Given the description of an element on the screen output the (x, y) to click on. 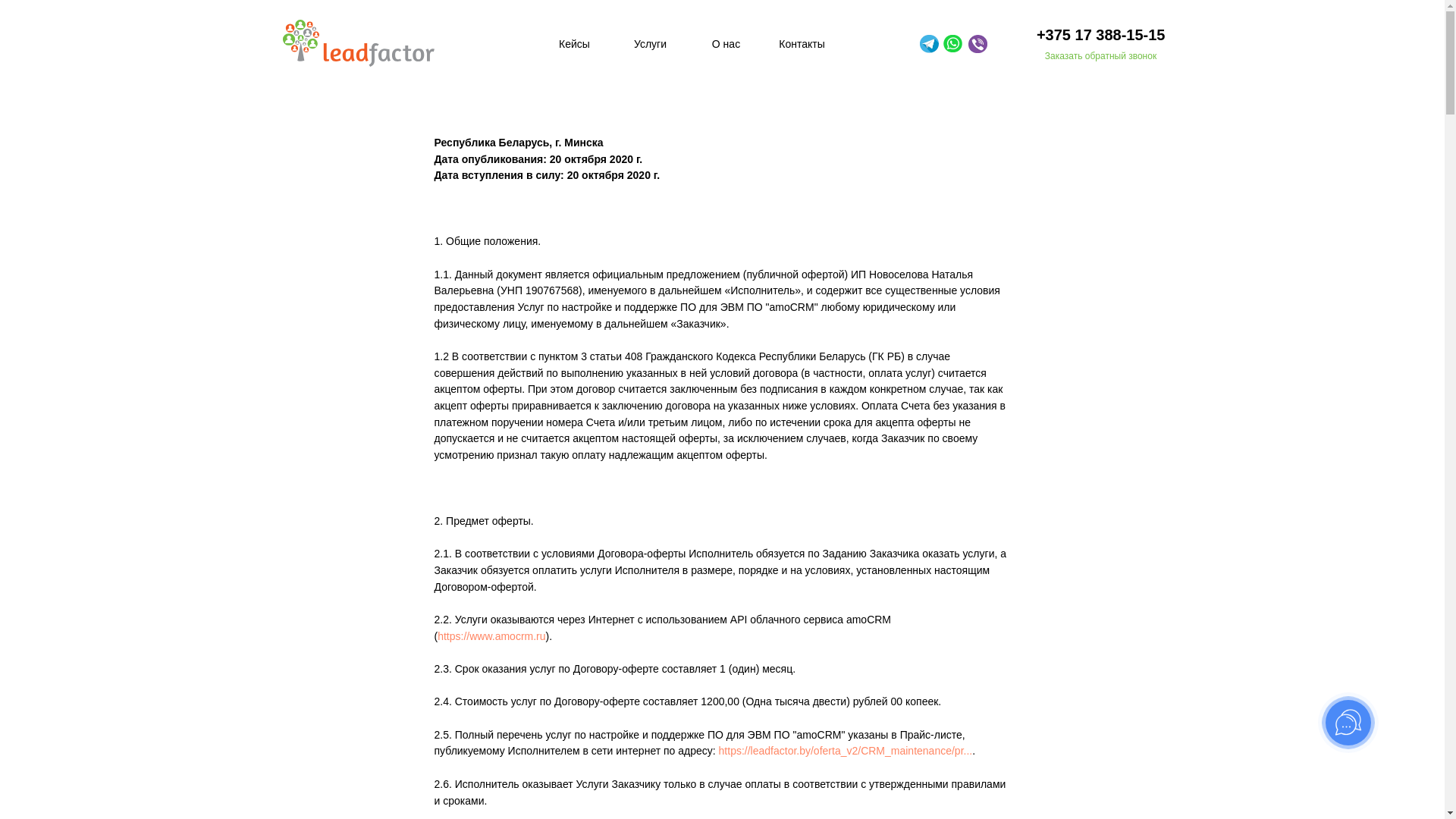
https://leadfactor.by/oferta_v2/CRM_maintenance/pr... Element type: text (845, 750)
https://www.amocrm.ru Element type: text (491, 636)
+375 17 388-15-15 Element type: text (1077, 35)
